Given the description of an element on the screen output the (x, y) to click on. 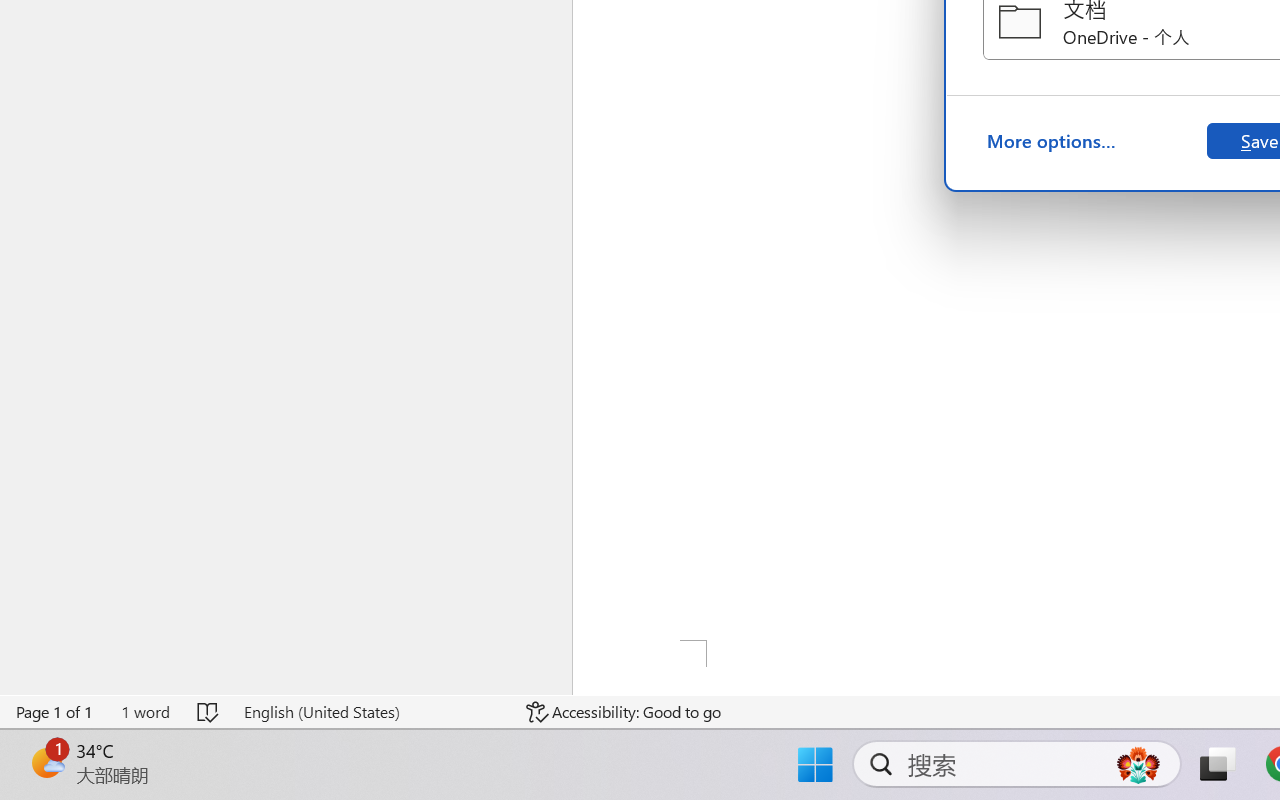
Page Number Page 1 of 1 (55, 712)
AutomationID: DynamicSearchBoxGleamImage (1138, 764)
Word Count 1 word (145, 712)
AutomationID: BadgeAnchorLargeTicker (46, 762)
Language English (United States) (370, 712)
Spelling and Grammar Check No Errors (208, 712)
Accessibility Checker Accessibility: Good to go (623, 712)
